Given the description of an element on the screen output the (x, y) to click on. 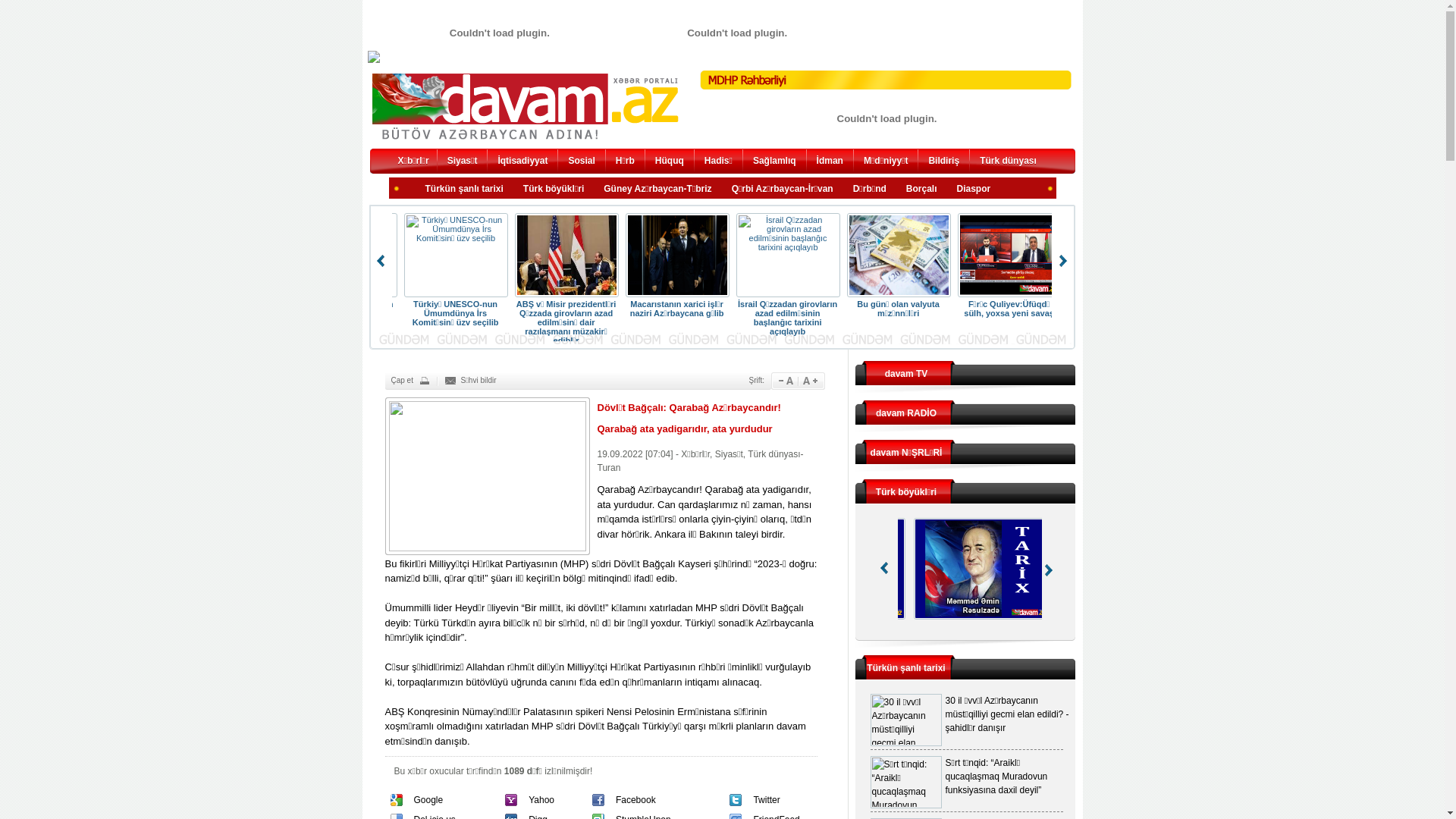
Google Element type: text (428, 799)
davam TV Element type: text (906, 373)
Twitter Element type: text (766, 799)
Diaspor Element type: text (972, 189)
Facebook Element type: text (635, 799)
Yahoo Element type: text (541, 799)
Sosial Element type: text (581, 162)
